Given the description of an element on the screen output the (x, y) to click on. 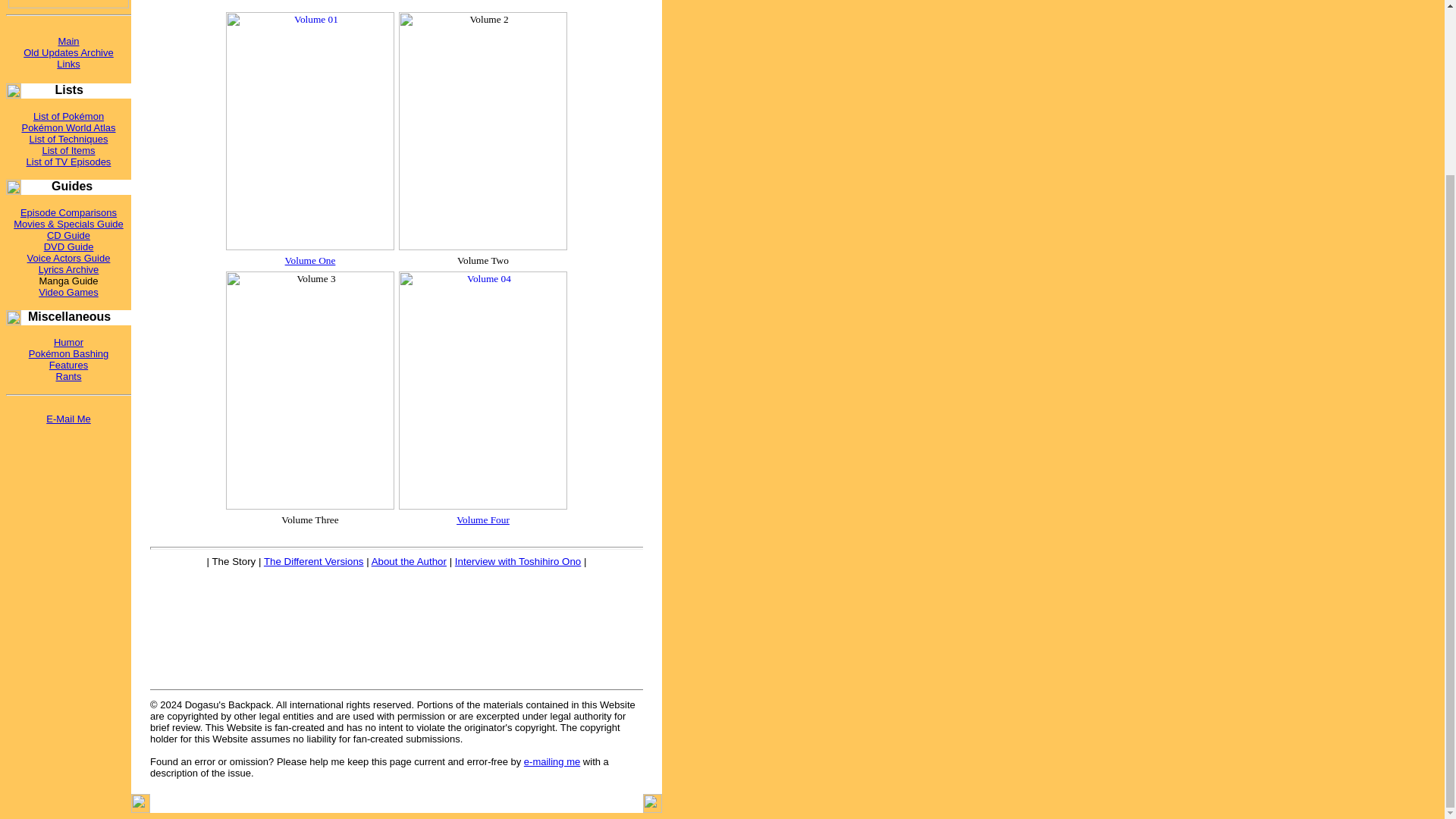
Humor (67, 342)
Links (68, 63)
Voice Actors Guide (68, 257)
The Different Versions (313, 561)
Interview with Toshihiro Ono (517, 561)
Volume Four (483, 519)
Lyrics Archive (69, 269)
List of TV Episodes (69, 161)
Rants (68, 376)
Old Updates Archive (68, 51)
Episode Comparisons (68, 212)
Video Games (69, 292)
Features (68, 365)
CD Guide (68, 235)
List of Items (68, 150)
